Given the description of an element on the screen output the (x, y) to click on. 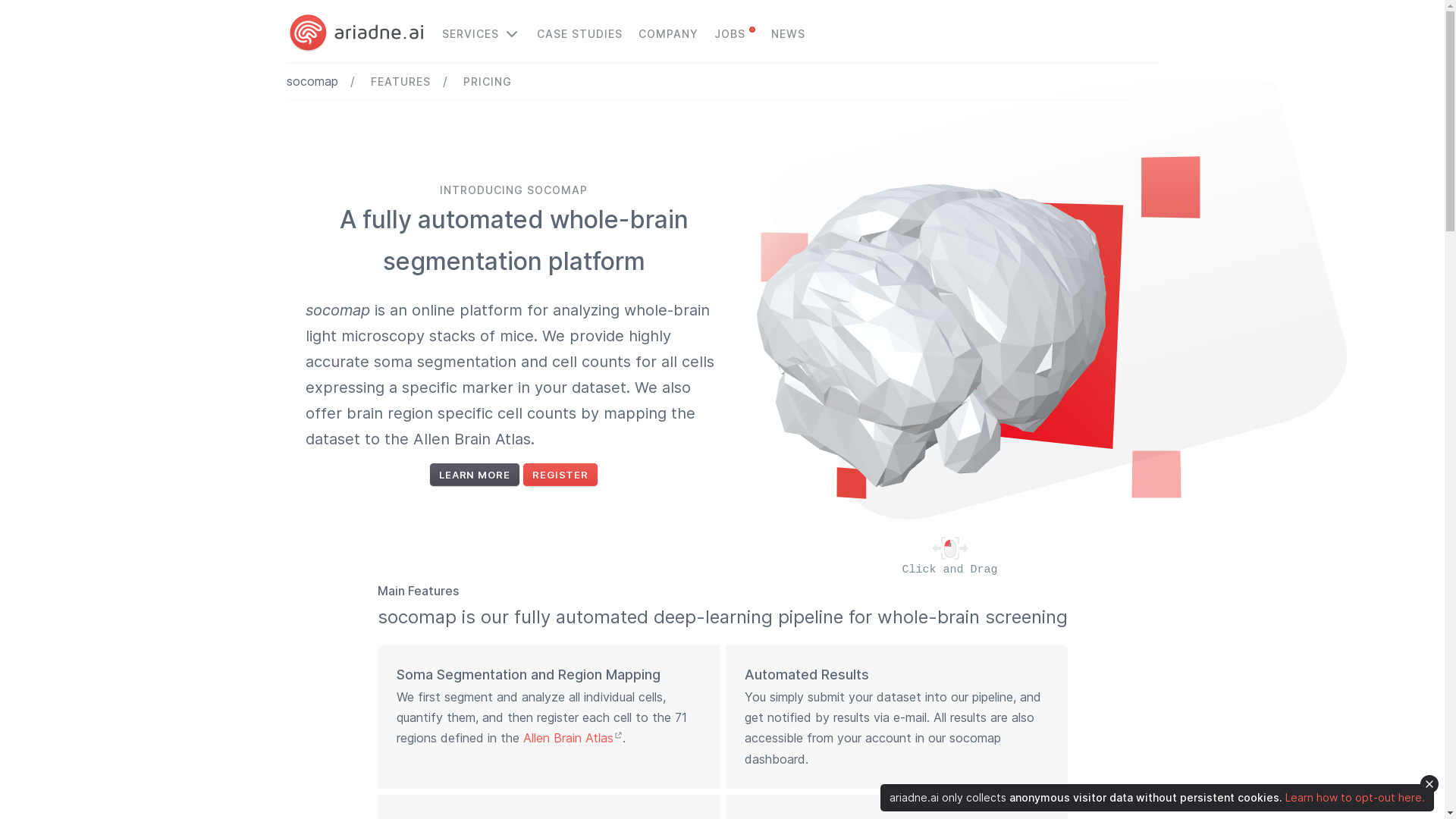
PRICING Element type: text (486, 81)
CASE STUDIES Element type: text (579, 33)
Allen Brain Atlas Element type: text (572, 738)
Learn how to opt-out here. Element type: text (1354, 796)
LEARN MORE Element type: text (474, 474)
NEWS Element type: text (787, 33)
COMPANY Element type: text (668, 33)
FEATURES Element type: text (399, 81)
JOBS Element type: text (734, 33)
REGISTER Element type: text (560, 474)
